Given the description of an element on the screen output the (x, y) to click on. 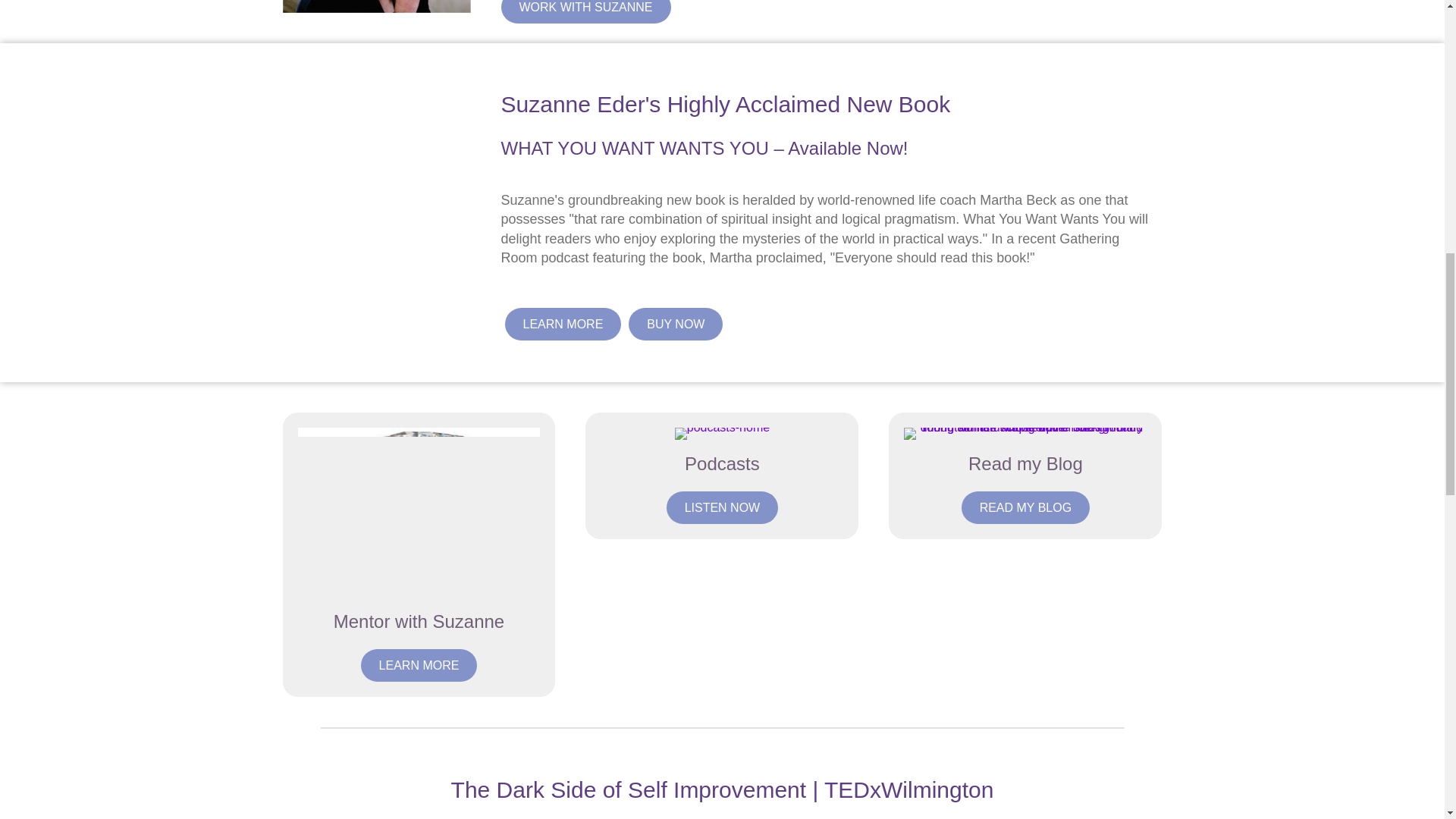
LEARN MORE (419, 665)
LISTEN NOW (722, 507)
WORK WITH SUZANNE (584, 11)
Young woman writing morning pages in diary outdoor, close-up (1025, 433)
Podcasts (722, 463)
LEARN MORE (563, 323)
Read my Blog (1025, 463)
podcasts-home (722, 433)
suzanne-headshot-homepage (376, 6)
Mentor with Suzanne (418, 620)
